Given the description of an element on the screen output the (x, y) to click on. 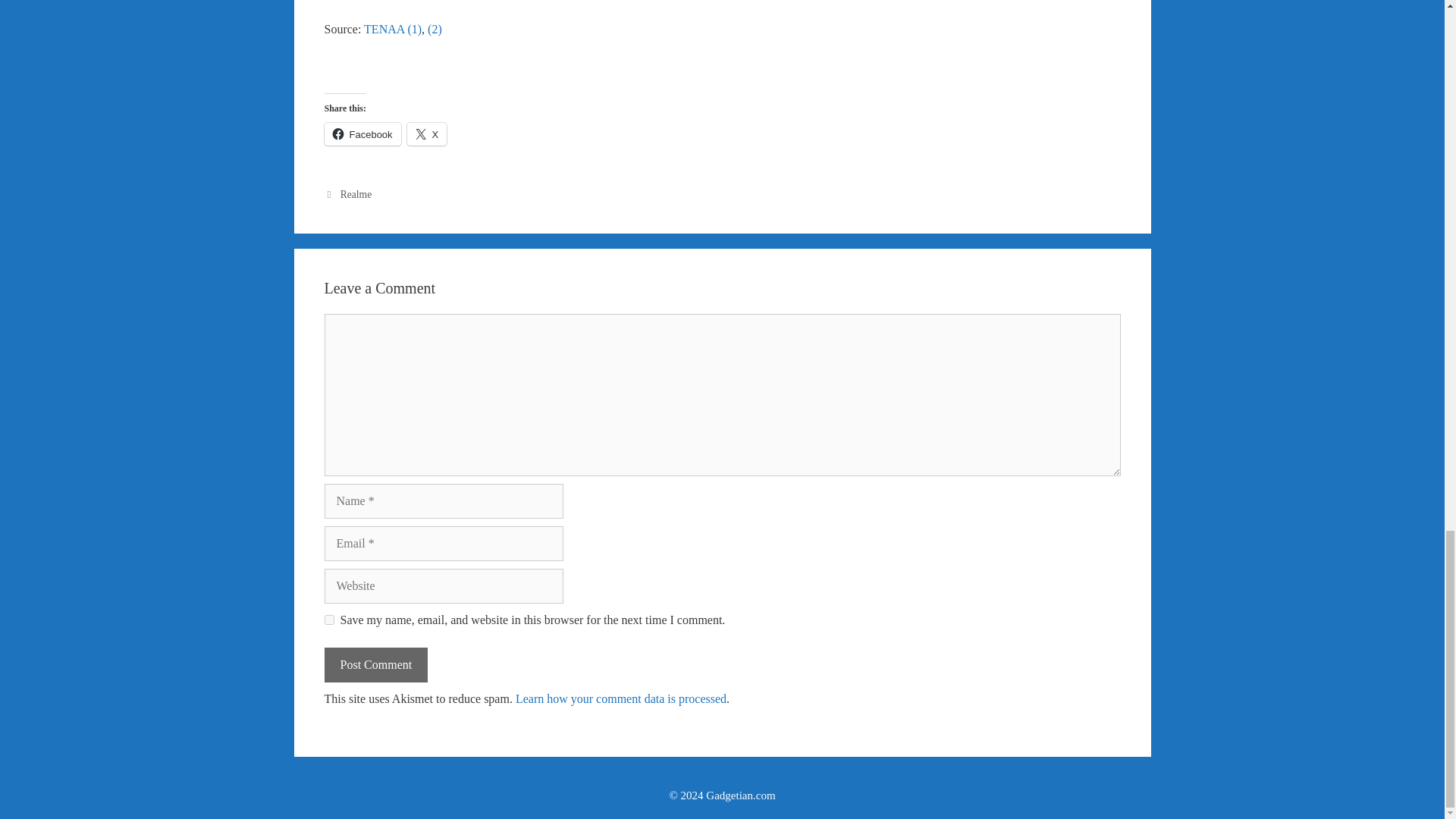
Click to share on X (426, 133)
Click to share on Facebook (362, 133)
Post Comment (376, 664)
X (426, 133)
Post Comment (376, 664)
Facebook (362, 133)
yes (329, 619)
Realme (356, 194)
Scroll back to top (1406, 8)
Learn how your comment data is processed (620, 698)
